Given the description of an element on the screen output the (x, y) to click on. 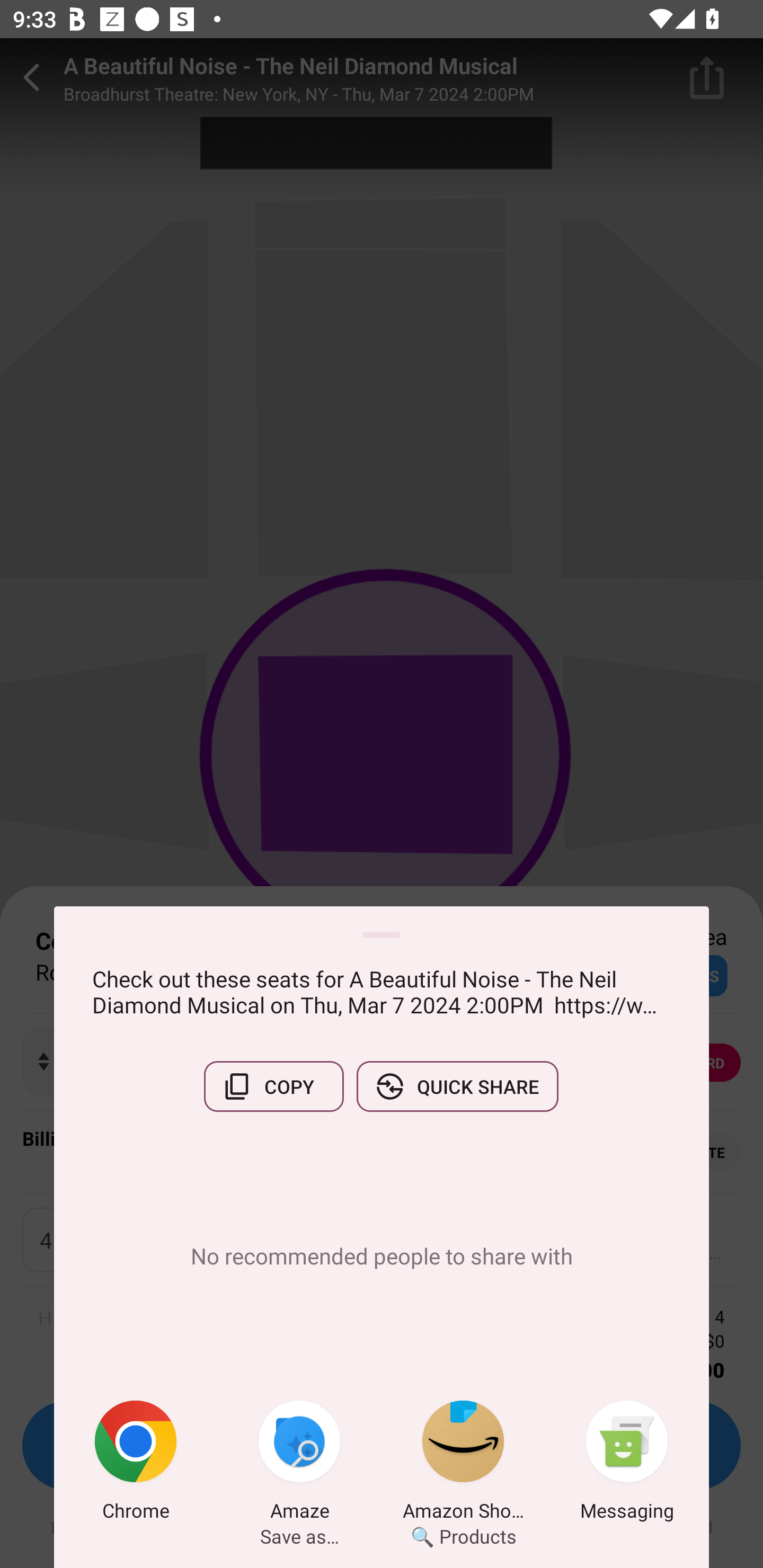
COPY (273, 1086)
QUICK SHARE (457, 1086)
Chrome (135, 1463)
Amaze Save as… (299, 1463)
Amazon Shopping 🔍 Products (463, 1463)
Messaging (626, 1463)
